Given the description of an element on the screen output the (x, y) to click on. 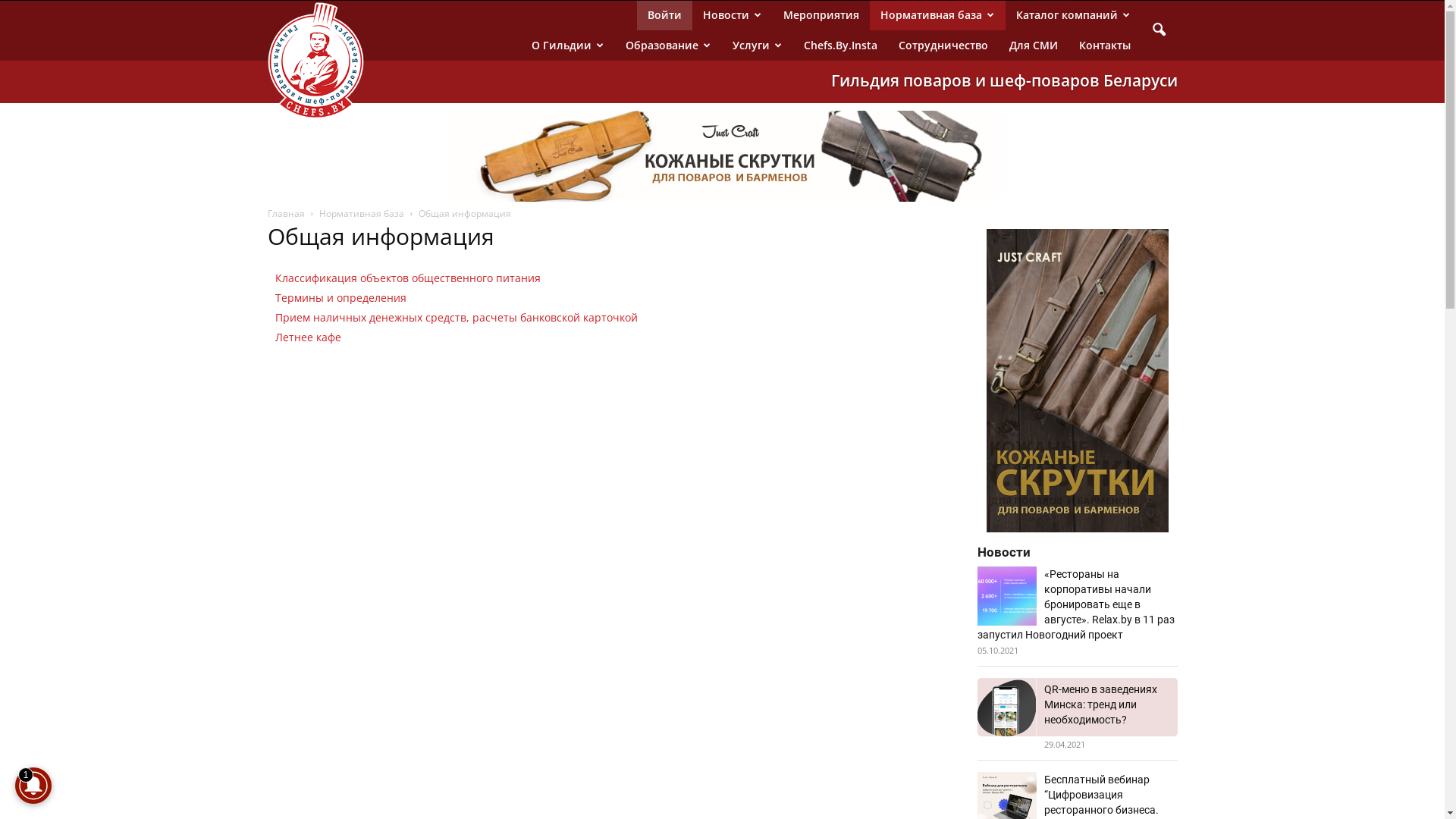
Chefs.By.Insta Element type: text (840, 45)
